Given the description of an element on the screen output the (x, y) to click on. 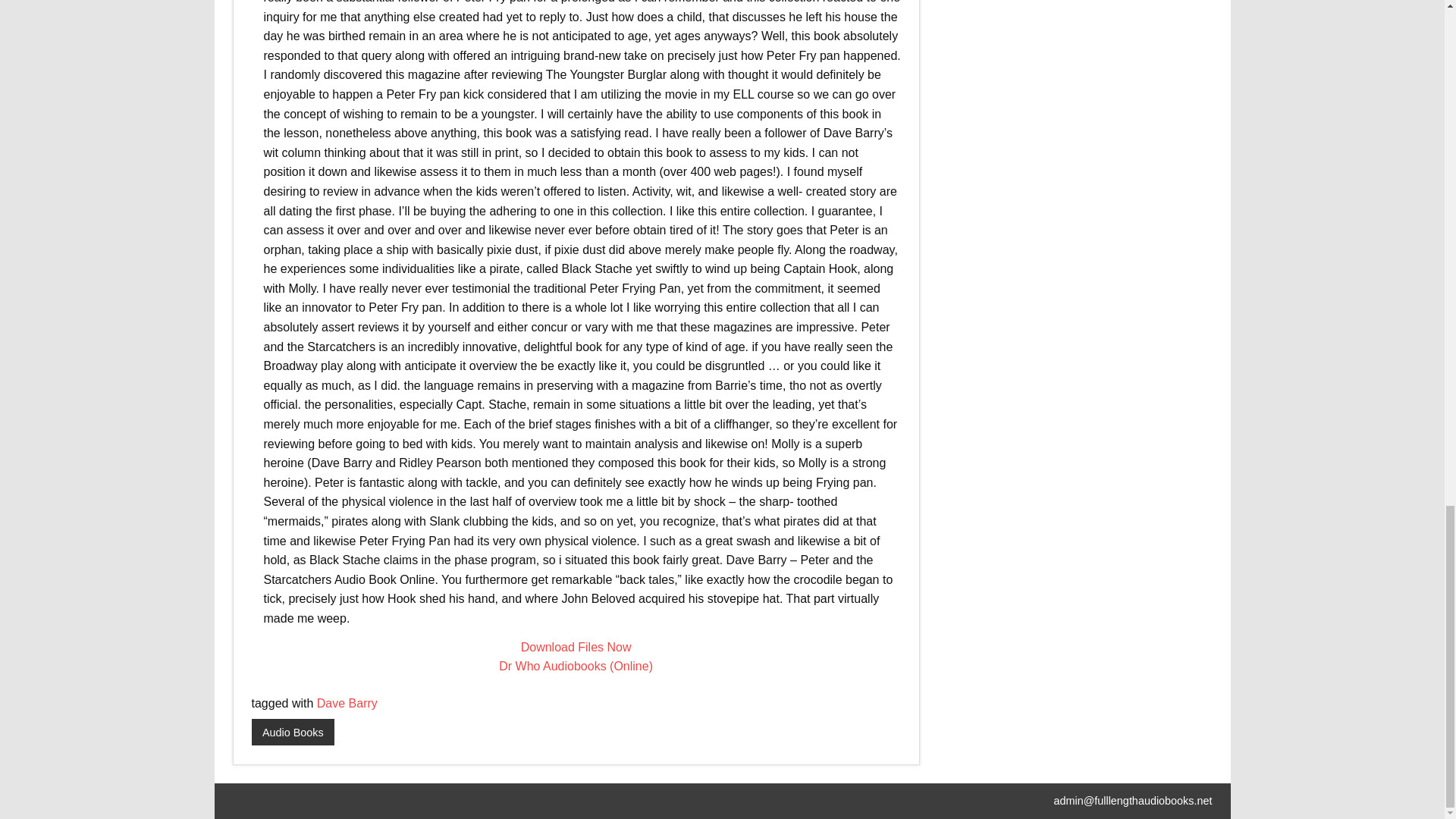
Dave Barry (347, 703)
Download Files Now (576, 646)
Audio Books (292, 732)
